Given the description of an element on the screen output the (x, y) to click on. 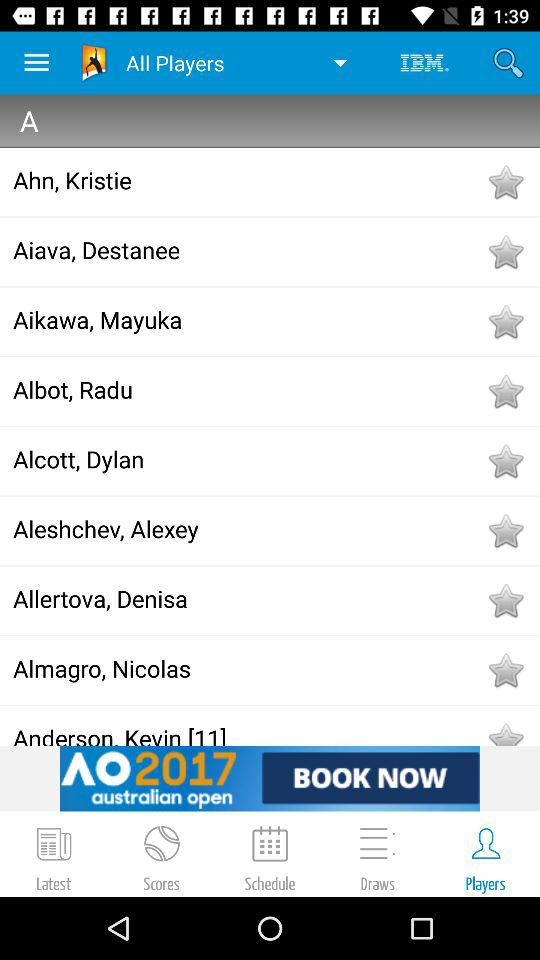
turn off anderson, kevin [11] (248, 733)
